Given the description of an element on the screen output the (x, y) to click on. 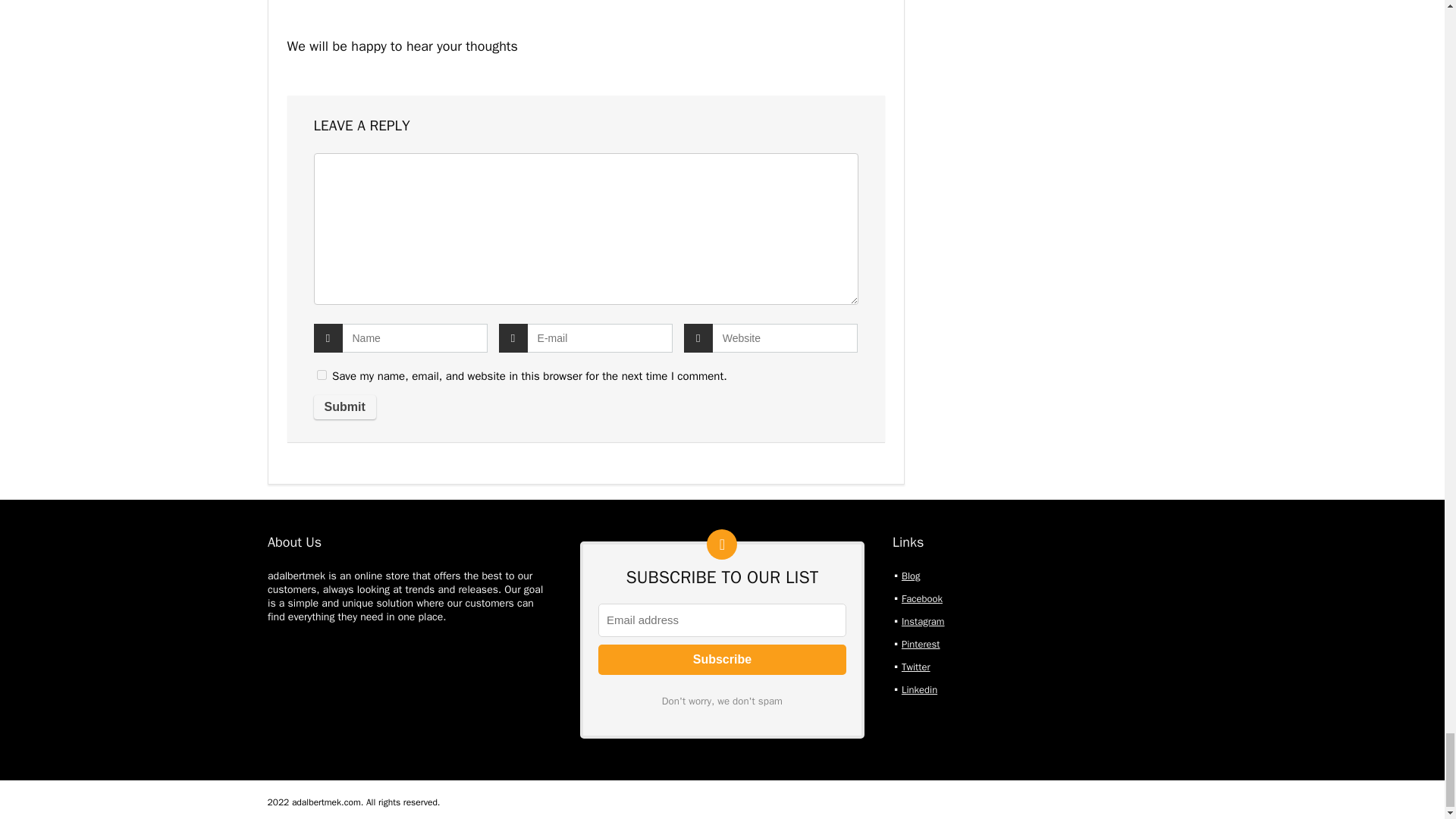
Submit (344, 406)
yes (321, 375)
Subscribe (721, 659)
